Given the description of an element on the screen output the (x, y) to click on. 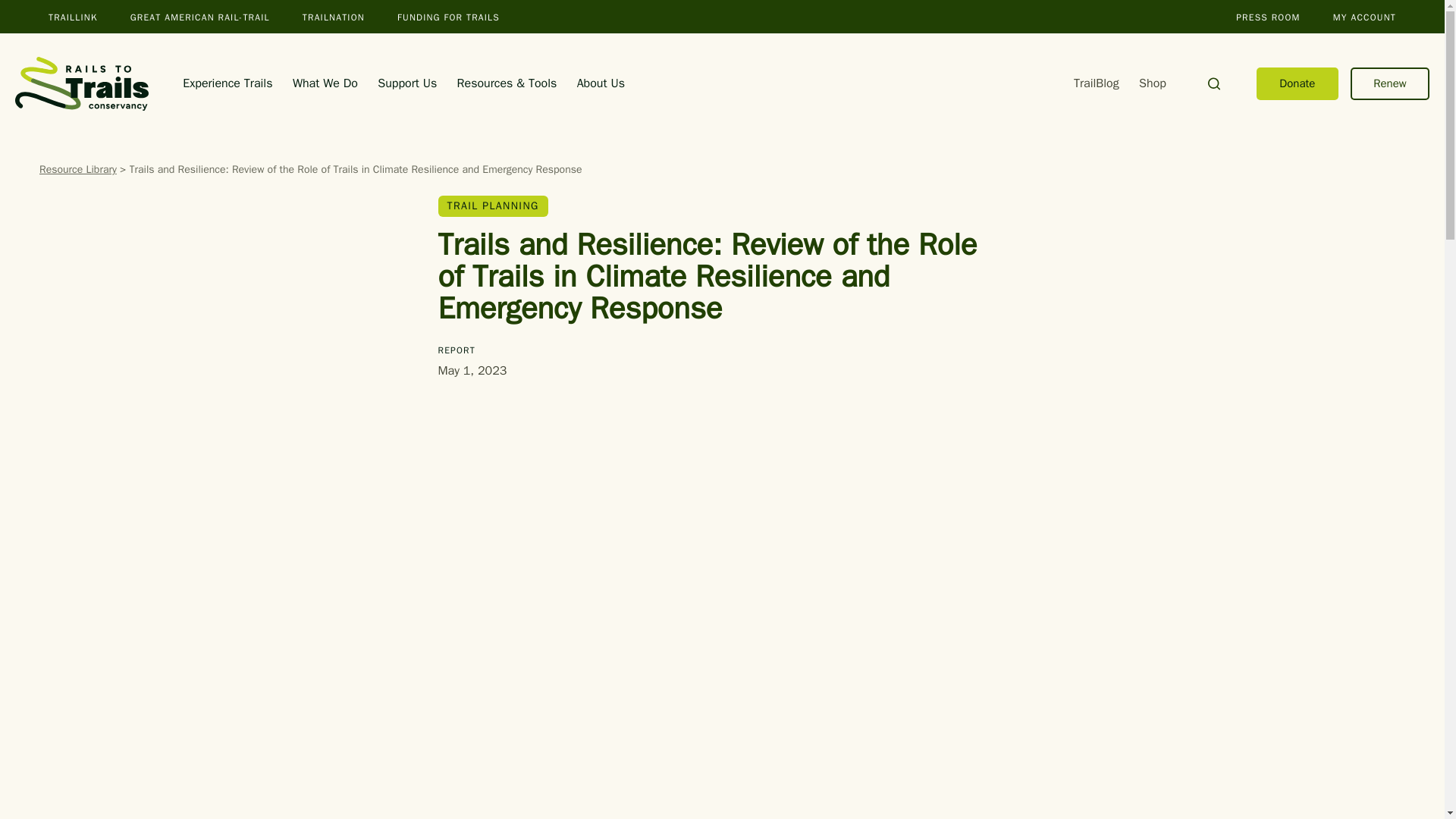
PRESS ROOM (1268, 16)
TrailBlog (1096, 83)
Experience Trails (227, 83)
TRAILNATION (333, 16)
Renew (1390, 83)
GREAT AMERICAN RAIL-TRAIL (200, 16)
TrailBlog (1096, 83)
Donate (1297, 83)
Shop (1152, 83)
About Us (600, 83)
